Given the description of an element on the screen output the (x, y) to click on. 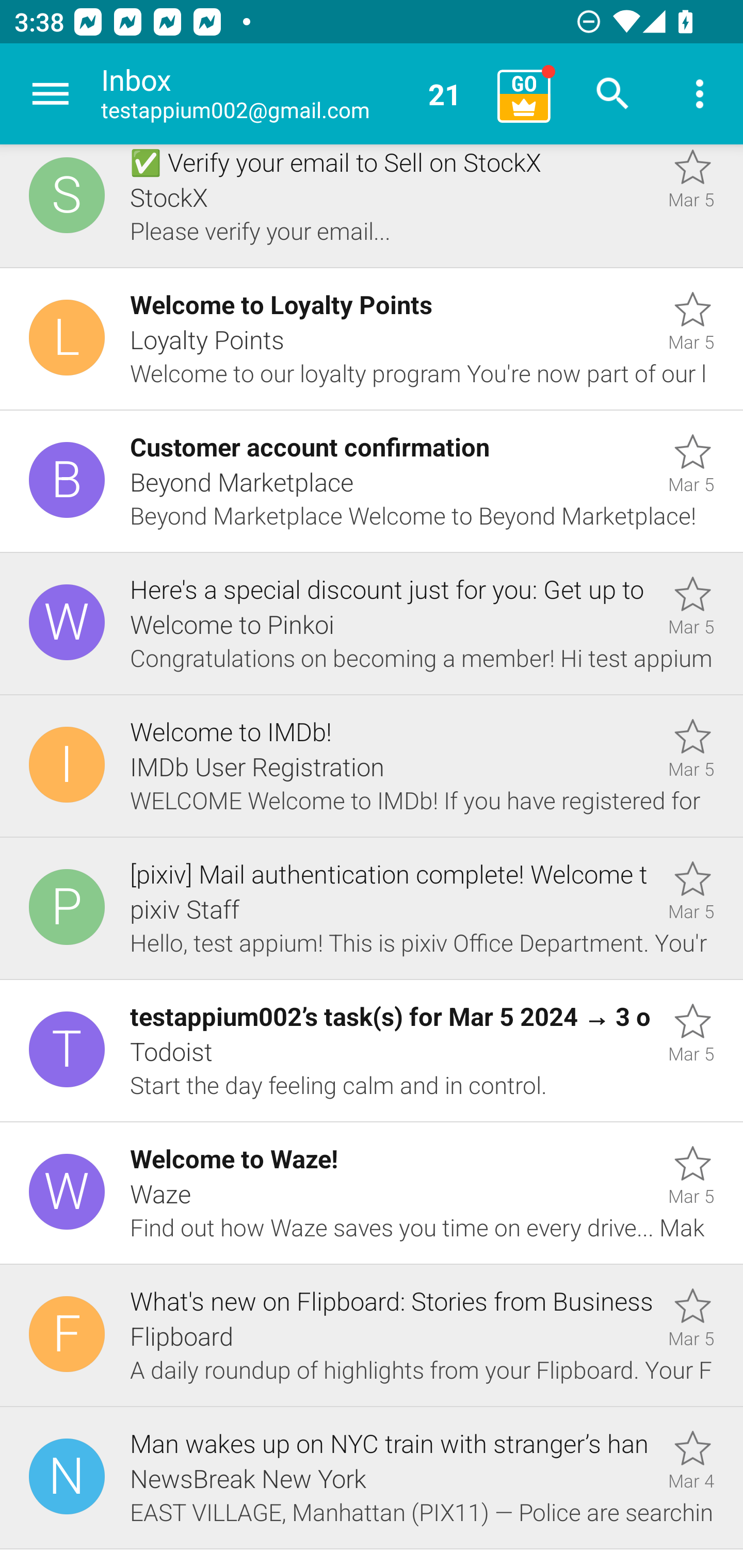
Navigate up (50, 93)
Inbox testappium002@gmail.com 21 (291, 93)
Search (612, 93)
More options (699, 93)
